Given the description of an element on the screen output the (x, y) to click on. 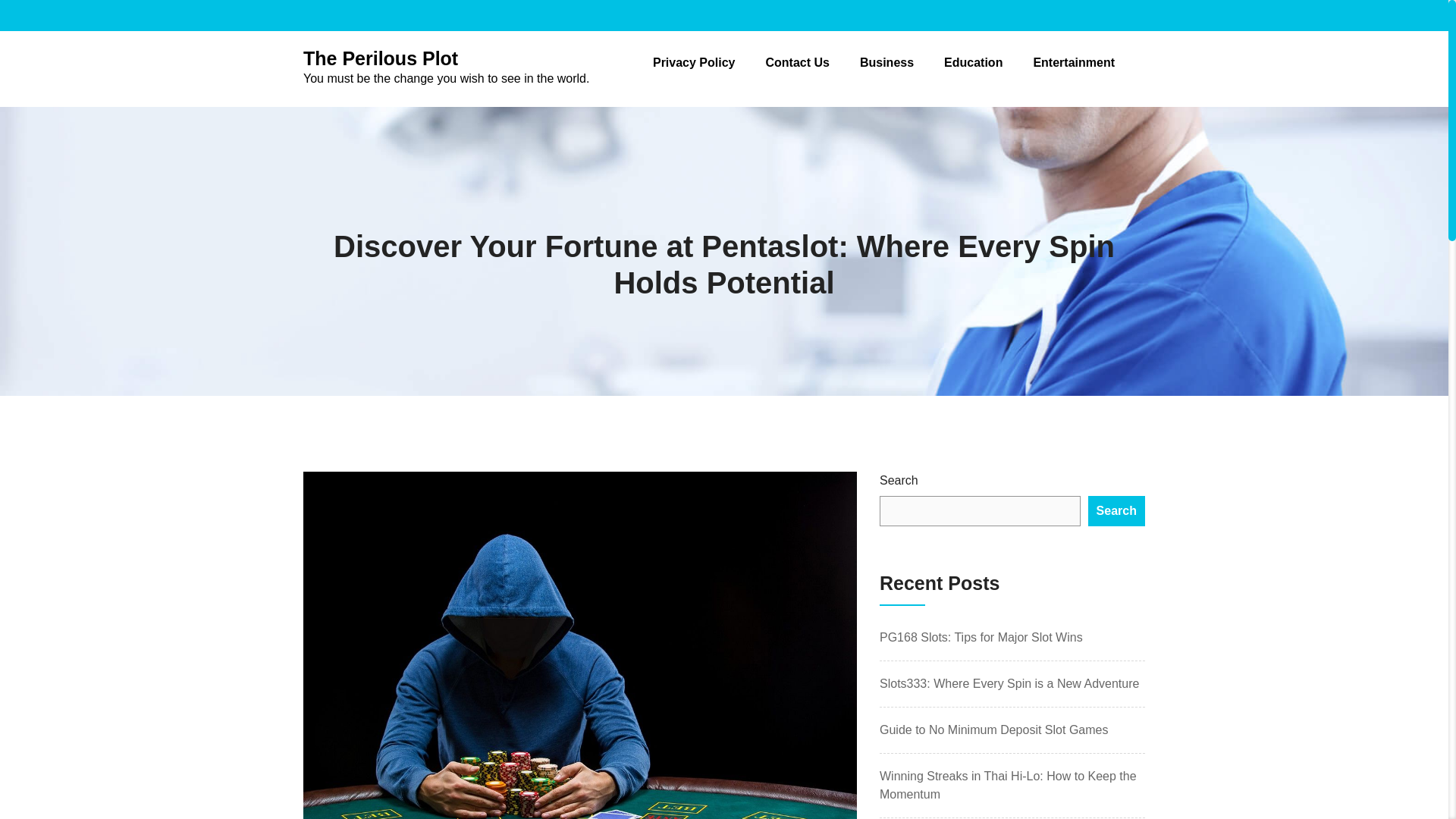
Guide to No Minimum Deposit Slot Games (993, 729)
Contact Us (796, 62)
Winning Streaks in Thai Hi-Lo: How to Keep the Momentum (1008, 784)
Slots333: Where Every Spin is a New Adventure (1008, 683)
Business (887, 62)
PG168 Slots: Tips for Major Slot Wins (981, 636)
Privacy Policy (693, 62)
Search (1115, 511)
Entertainment (1073, 62)
